Given the description of an element on the screen output the (x, y) to click on. 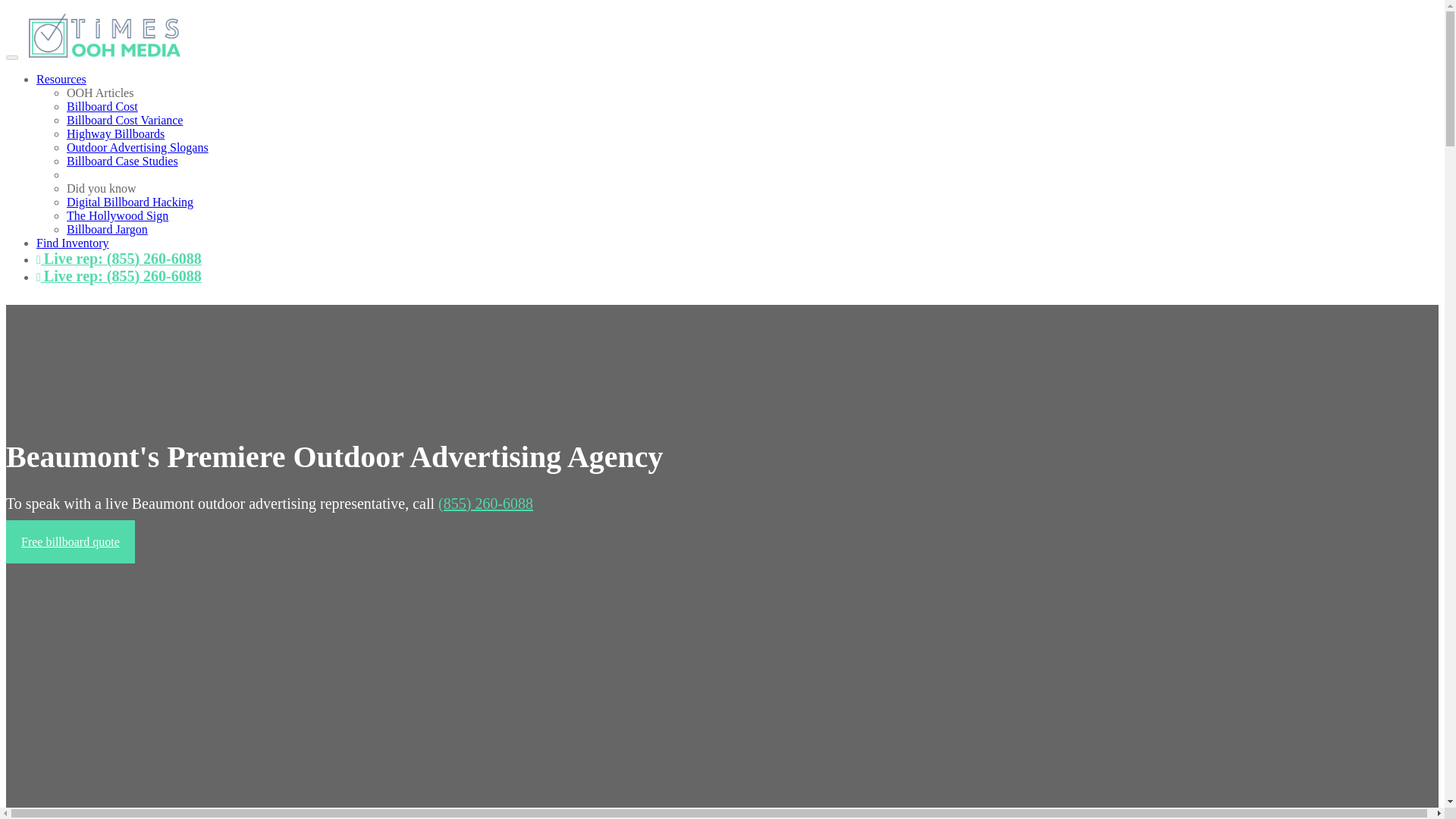
Billboard Case Studies (121, 160)
Billboard Cost (102, 106)
Toggle navigation (11, 57)
Free billboard quote (70, 541)
Digital Billboard Hacking (129, 201)
Resources (60, 78)
Billboard Cost Variance (124, 119)
Outdoor Advertising Slogans (137, 146)
The Hollywood Sign (117, 215)
Billboard Jargon (107, 228)
